Given the description of an element on the screen output the (x, y) to click on. 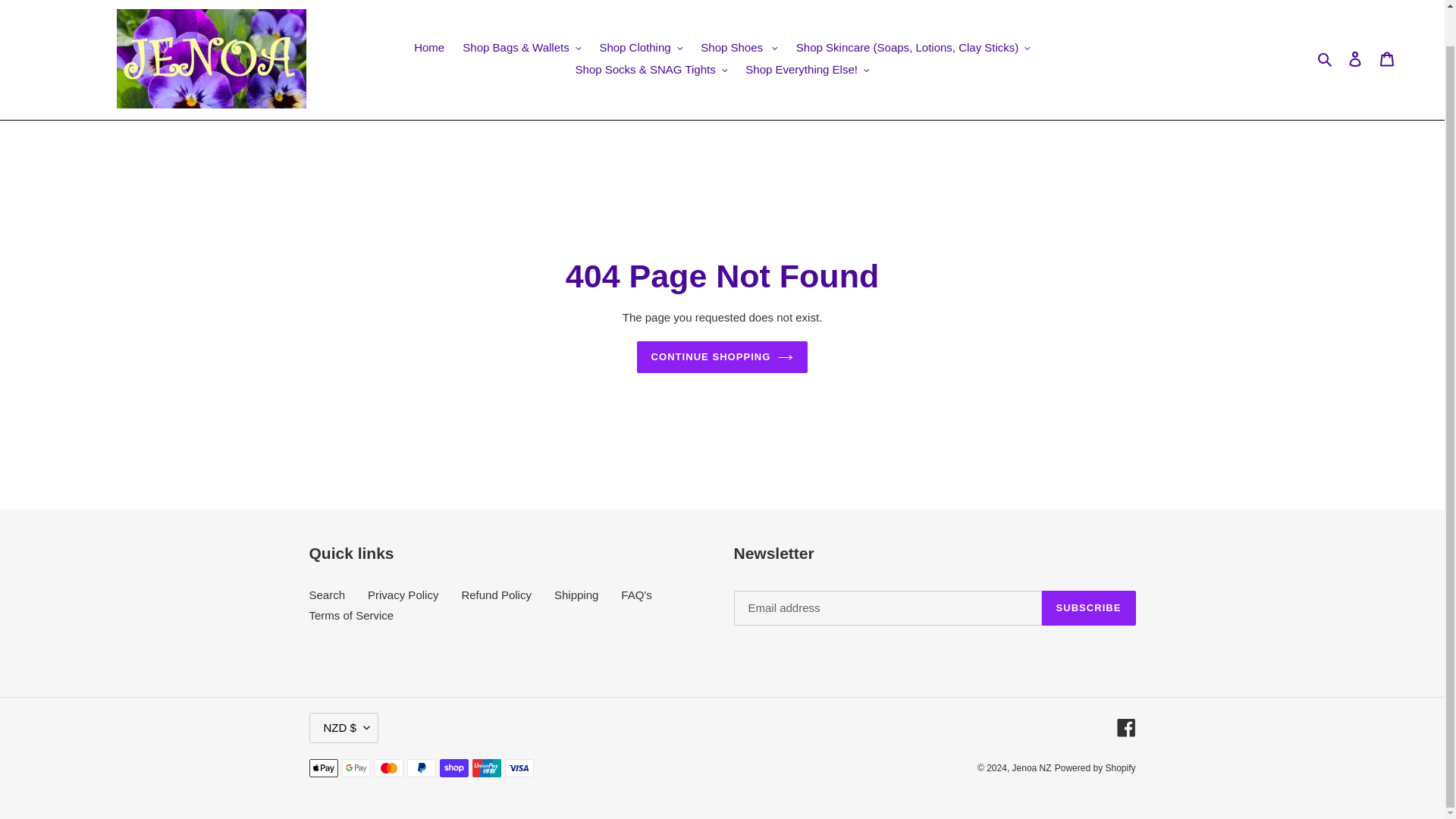
Search (1326, 58)
Shop Clothing (640, 47)
Log in (1355, 58)
Shop Everything Else! (807, 69)
Shop Shoes (738, 47)
Home (428, 47)
